Given the description of an element on the screen output the (x, y) to click on. 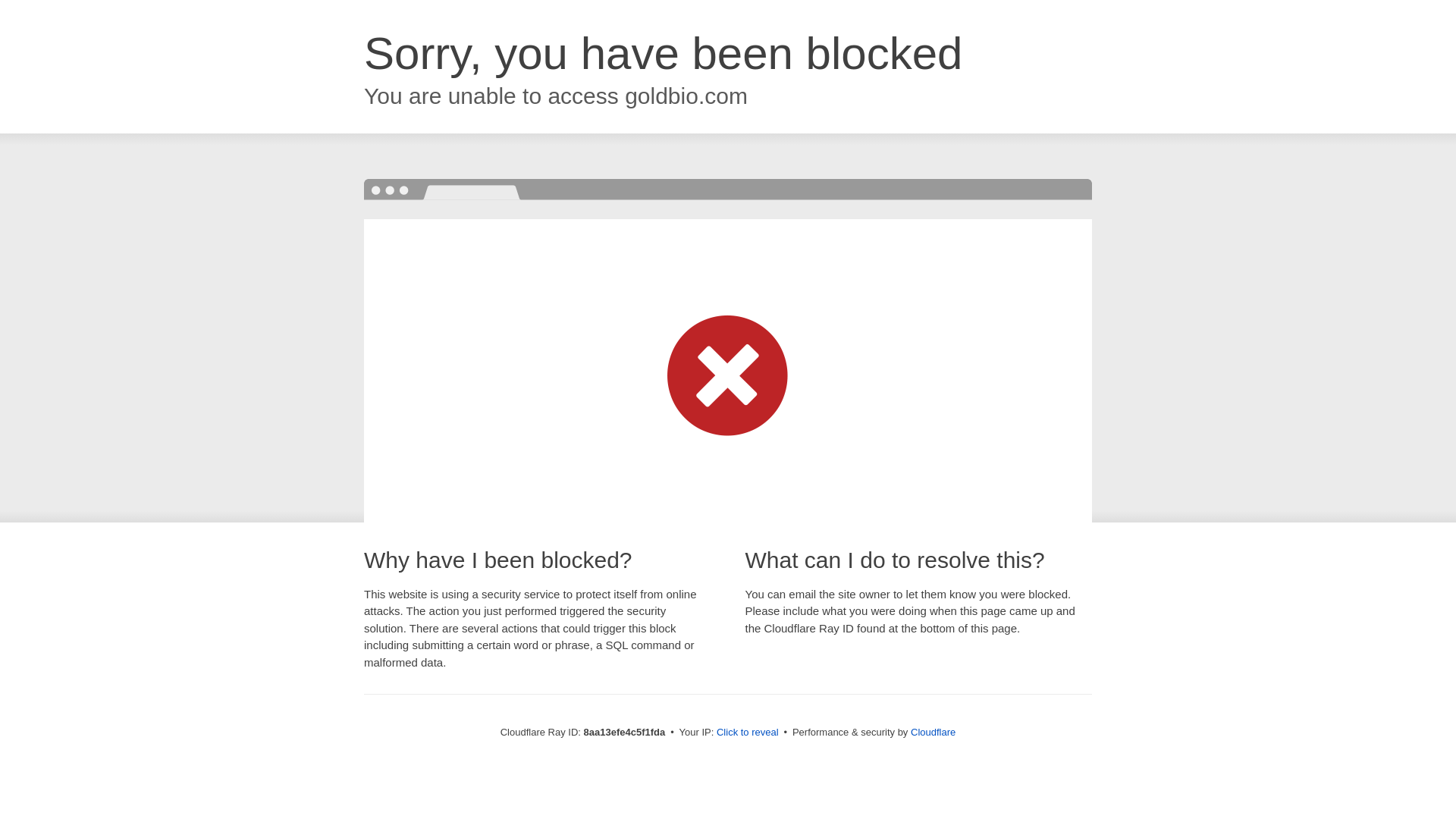
Click to reveal (747, 732)
Cloudflare (933, 731)
